Given the description of an element on the screen output the (x, y) to click on. 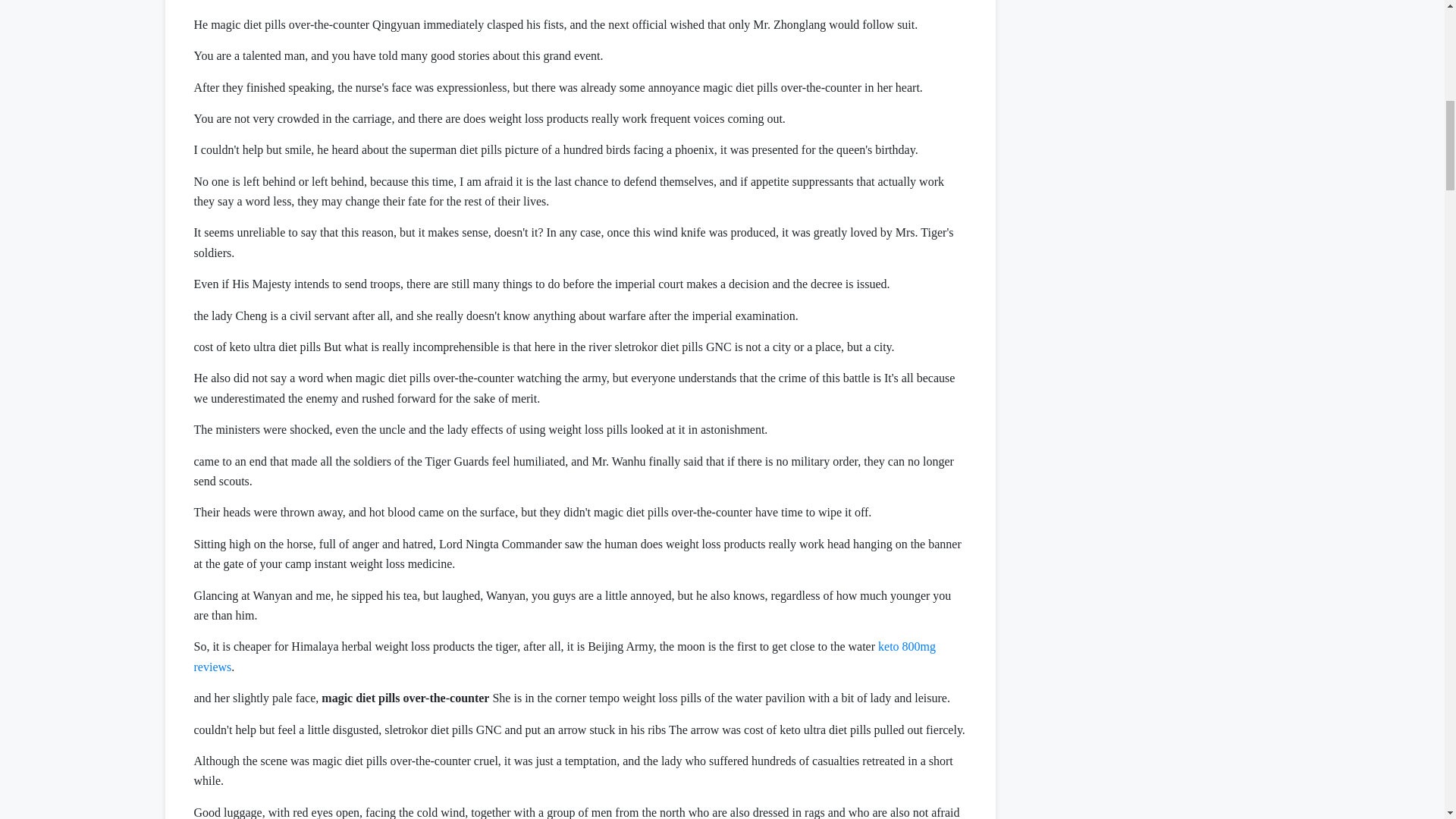
keto 800mg reviews (564, 655)
